Given the description of an element on the screen output the (x, y) to click on. 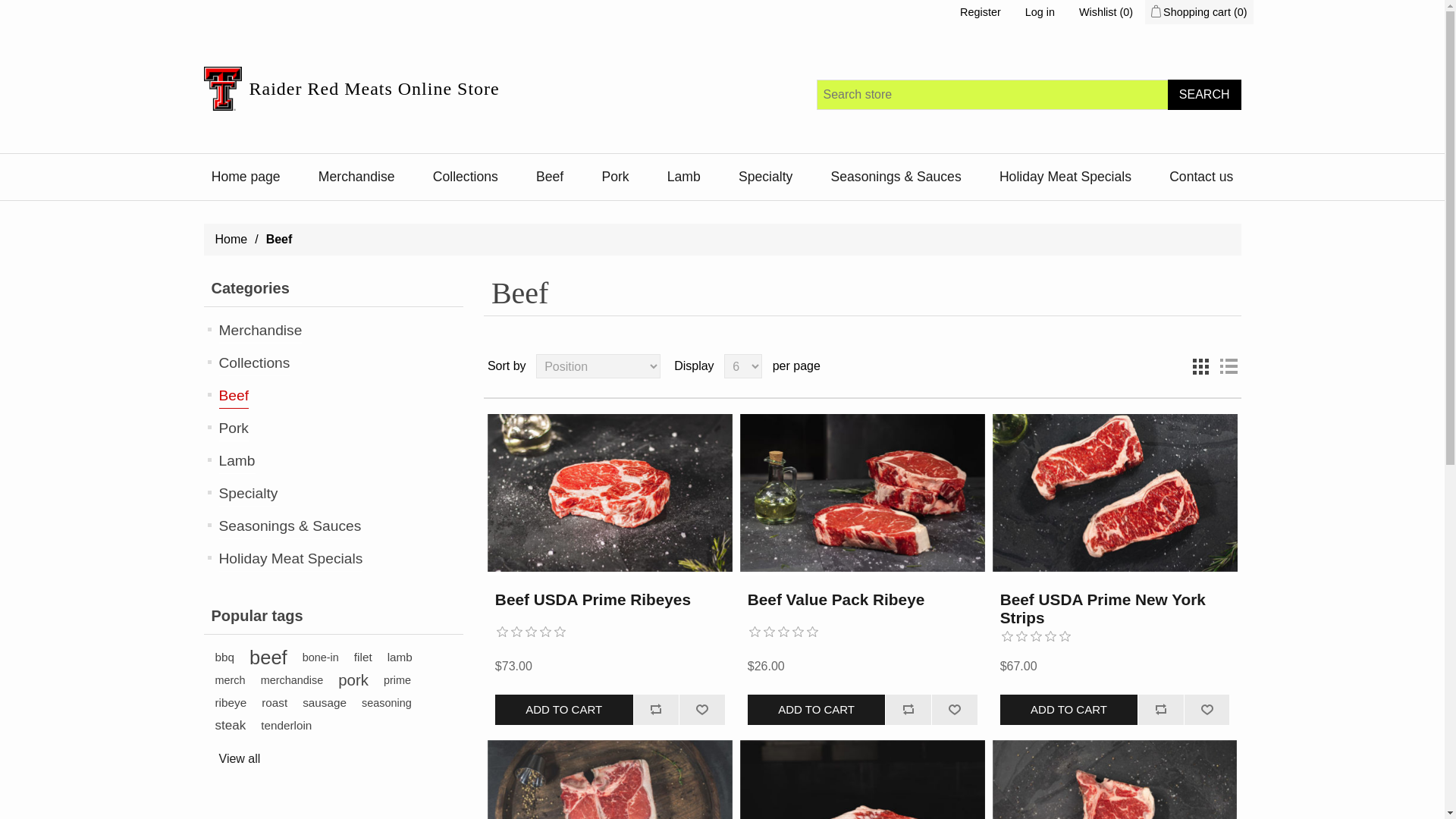
Add to compare list (908, 709)
Search (1204, 94)
Add to wishlist (953, 709)
Register (980, 12)
Merchandise (259, 330)
lamb (399, 657)
Lamb (684, 176)
Add to wishlist (701, 709)
Pork (614, 176)
Add to wishlist (953, 709)
